Given the description of an element on the screen output the (x, y) to click on. 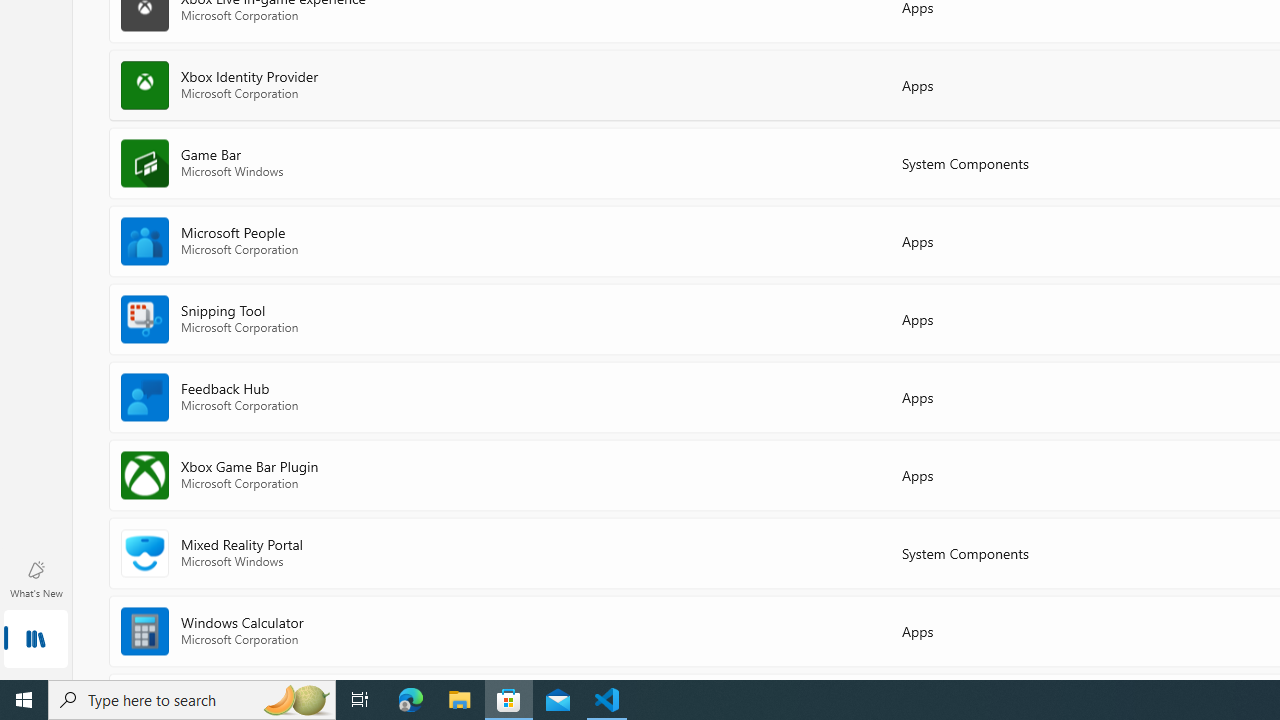
What's New (35, 578)
Library (35, 640)
